Given the description of an element on the screen output the (x, y) to click on. 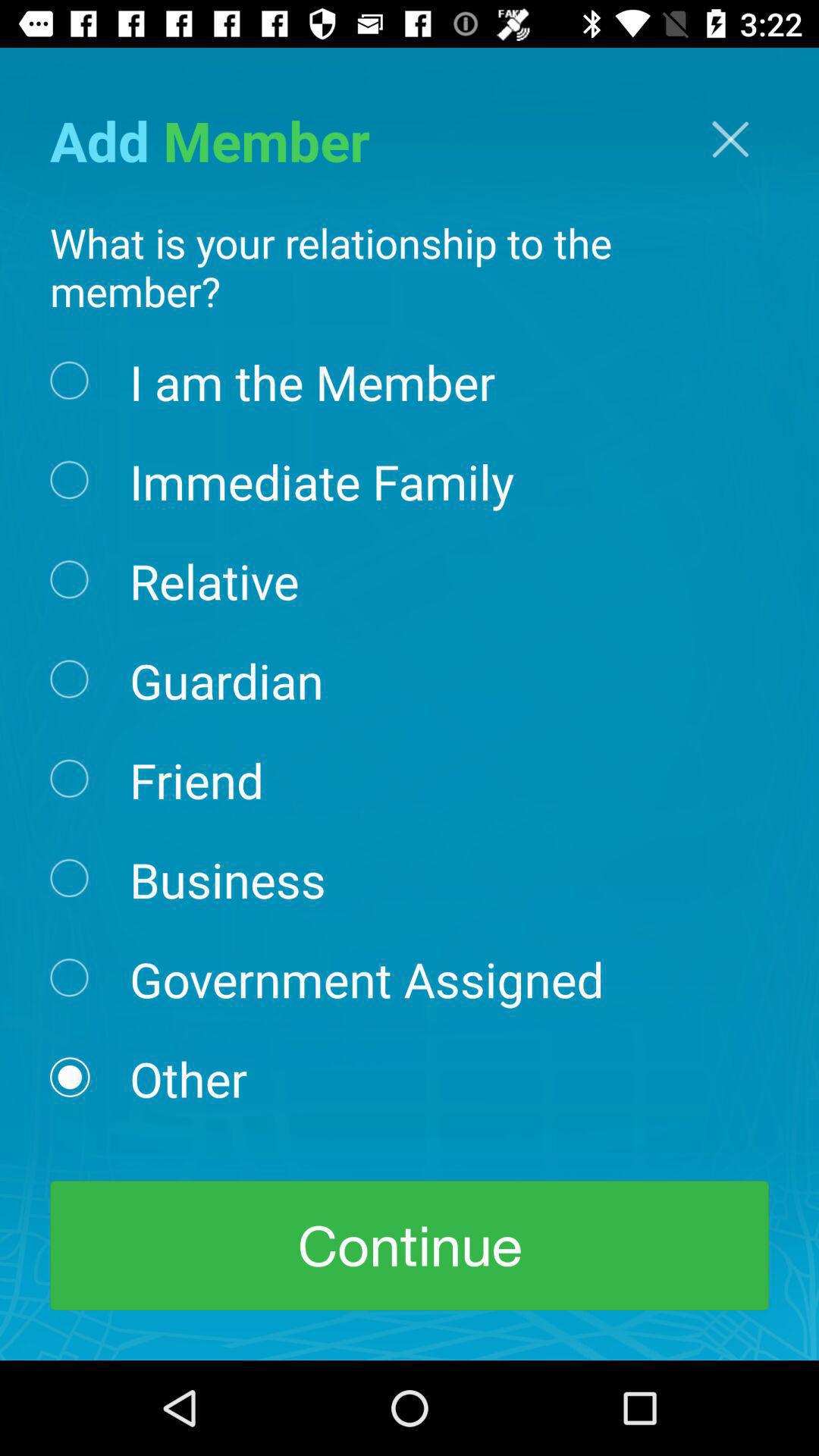
launch item below friend item (227, 878)
